Given the description of an element on the screen output the (x, y) to click on. 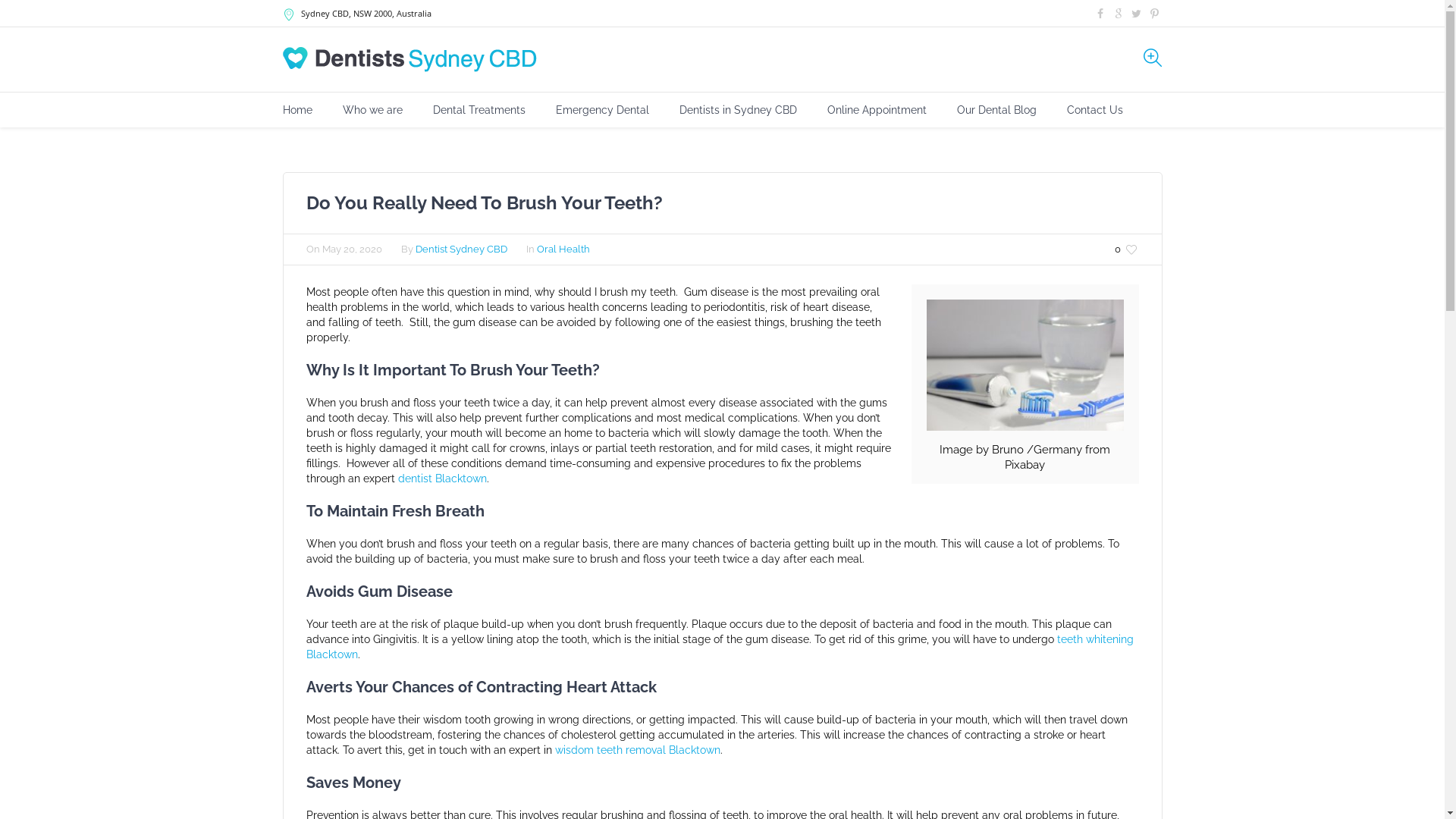
Contact Us Element type: text (1094, 109)
wisdom teeth removal Blacktown Element type: text (637, 749)
Google Element type: hover (1118, 13)
Oral Health Element type: text (562, 248)
Dental Treatments Element type: text (478, 109)
Dentist Sydney CBD Element type: text (461, 248)
0 Element type: text (1126, 249)
Dentists in Sydney CBD Element type: text (738, 109)
Online Appointment Element type: text (875, 109)
Facebook Element type: hover (1100, 13)
Who we are Element type: text (372, 109)
Twitter Element type: hover (1136, 13)
Pinterest Element type: hover (1154, 13)
Sydney CBD, NSW 2000, Australia Element type: text (365, 12)
Our Dental Blog Element type: text (996, 109)
Emergency Dental Element type: text (601, 109)
Home Element type: text (296, 109)
dentist Blacktown Element type: text (441, 478)
teeth whitening Blacktown Element type: text (719, 646)
